Given the description of an element on the screen output the (x, y) to click on. 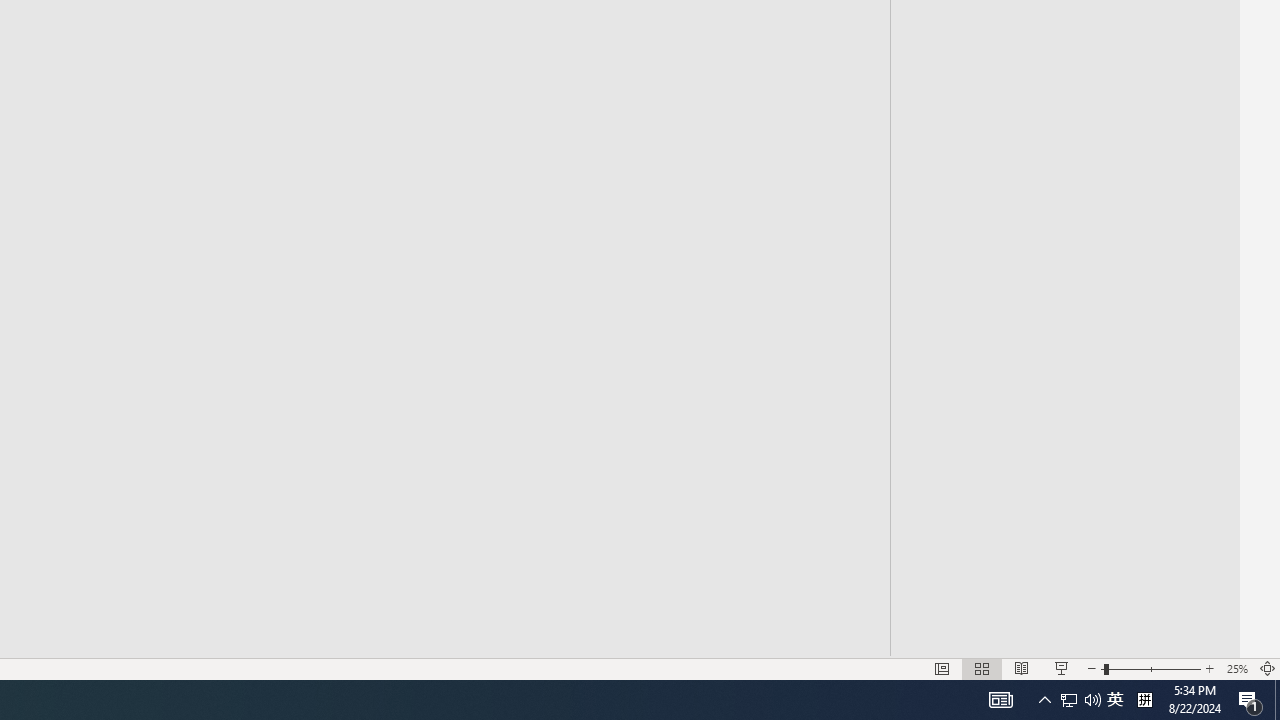
Action Center, 1 new notification (1250, 699)
Zoom 25% (1236, 668)
